Given the description of an element on the screen output the (x, y) to click on. 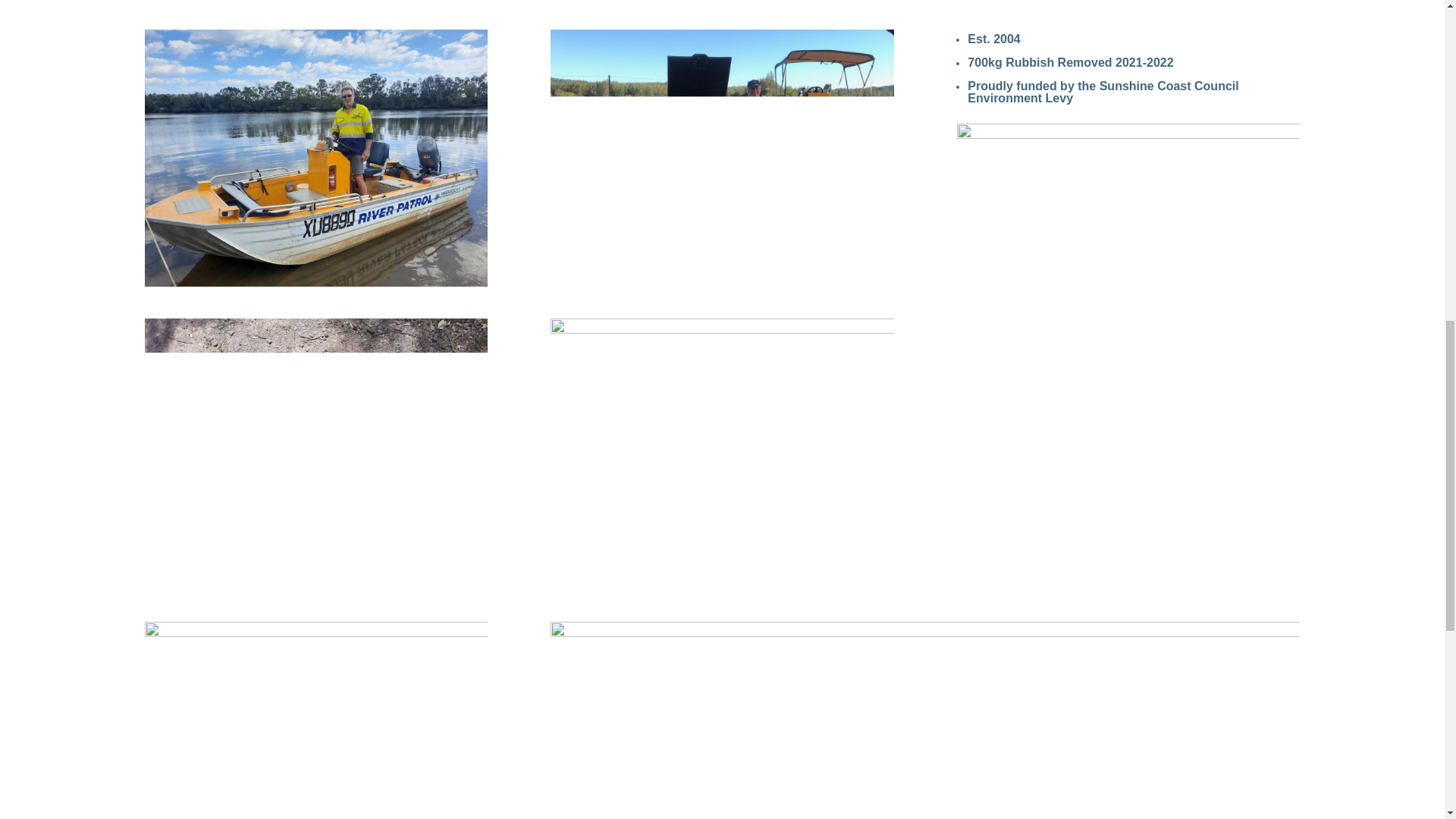
200719 John Clemones Rubbish (721, 157)
River Patrol - ECOllaboration2 (315, 720)
River Patrol - ECOllaboration1 (315, 157)
River Patrol - ECOllaboration3 (315, 446)
